Given the description of an element on the screen output the (x, y) to click on. 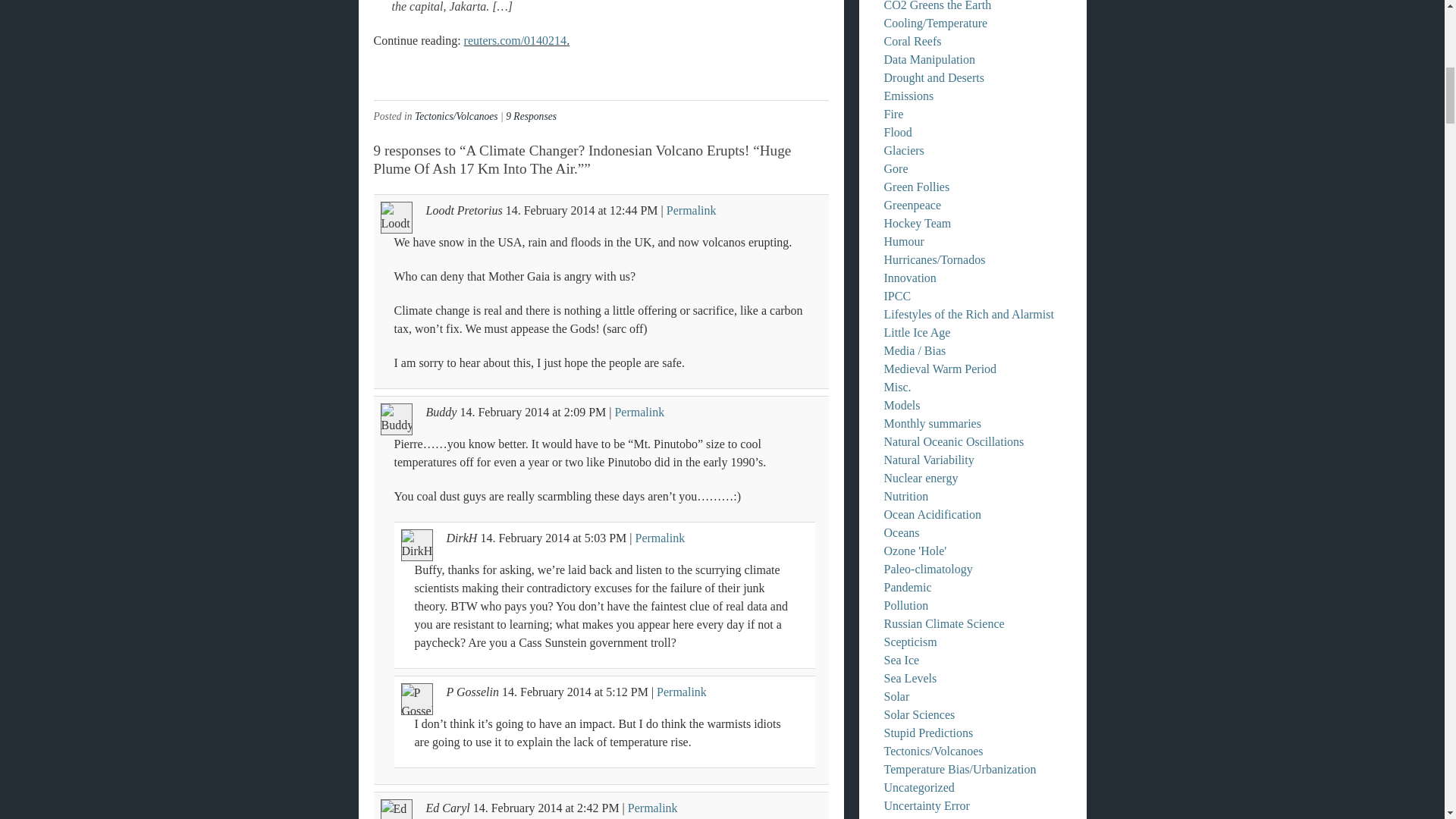
Friday, February 14th, 2014, 2:09 pm (585, 411)
Permalink (659, 537)
Permalink to comment 918205 (691, 210)
Friday, February 14th, 2014, 12:44 pm (550, 210)
9 Responses (530, 116)
Permalink (638, 411)
Friday, February 14th, 2014, 12:44 pm (634, 210)
Permalink (691, 210)
Permalink (681, 691)
Permalink (652, 807)
